Given the description of an element on the screen output the (x, y) to click on. 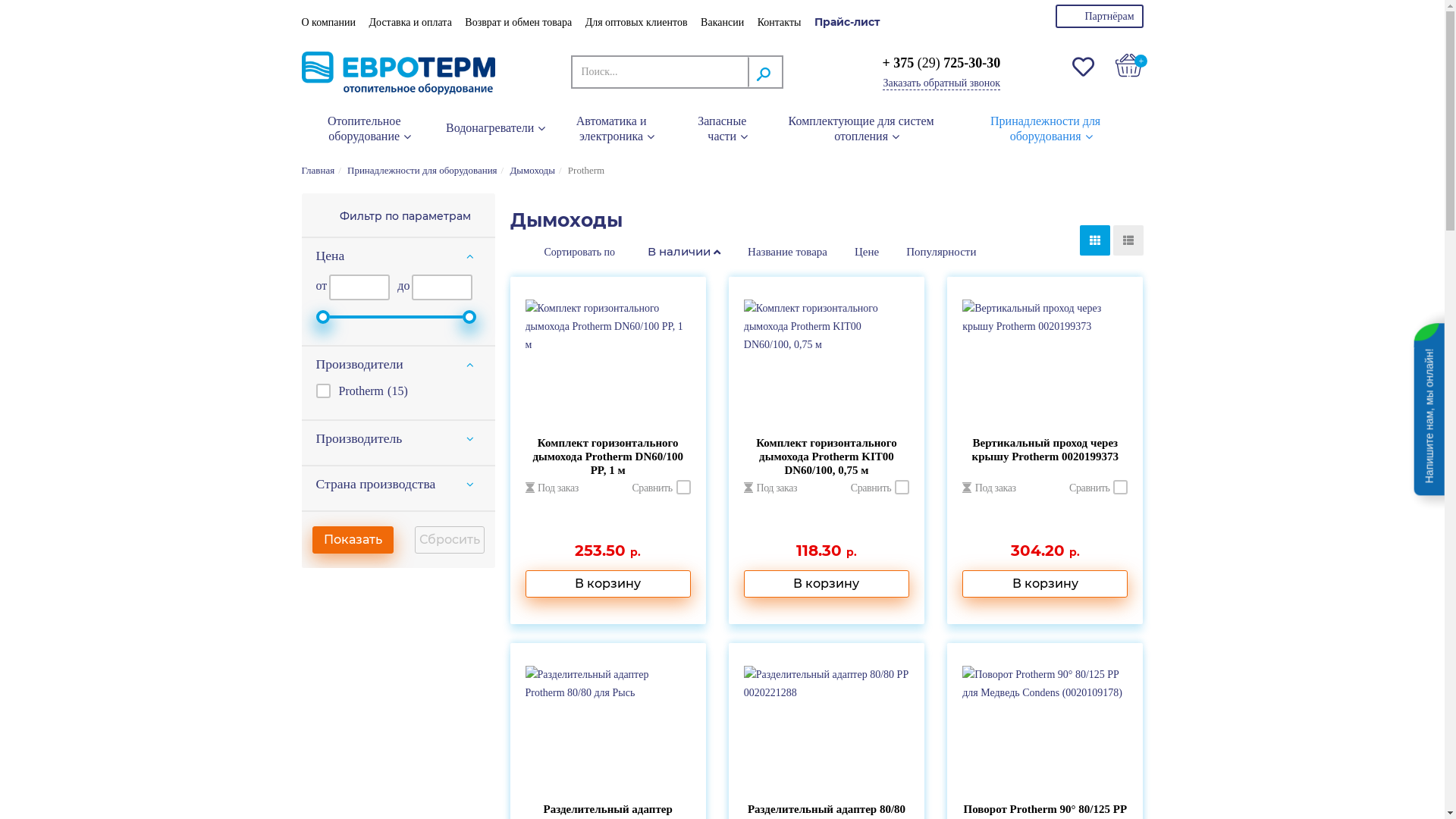
+ Element type: text (1128, 64)
+ 375 (29) 725-30-30 Element type: text (940, 62)
